Given the description of an element on the screen output the (x, y) to click on. 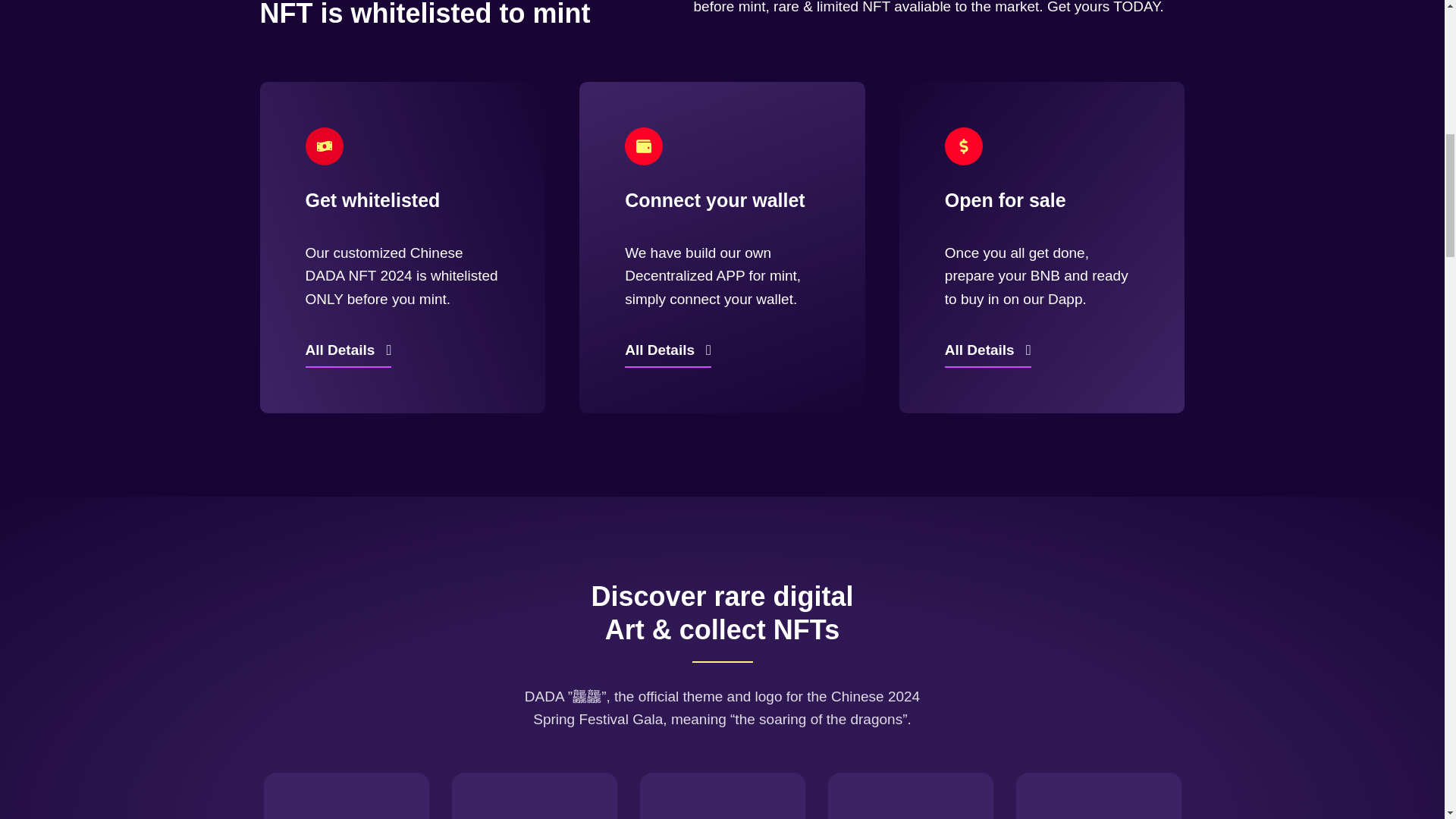
All Details (347, 351)
All Details (667, 351)
All Details (987, 351)
